Given the description of an element on the screen output the (x, y) to click on. 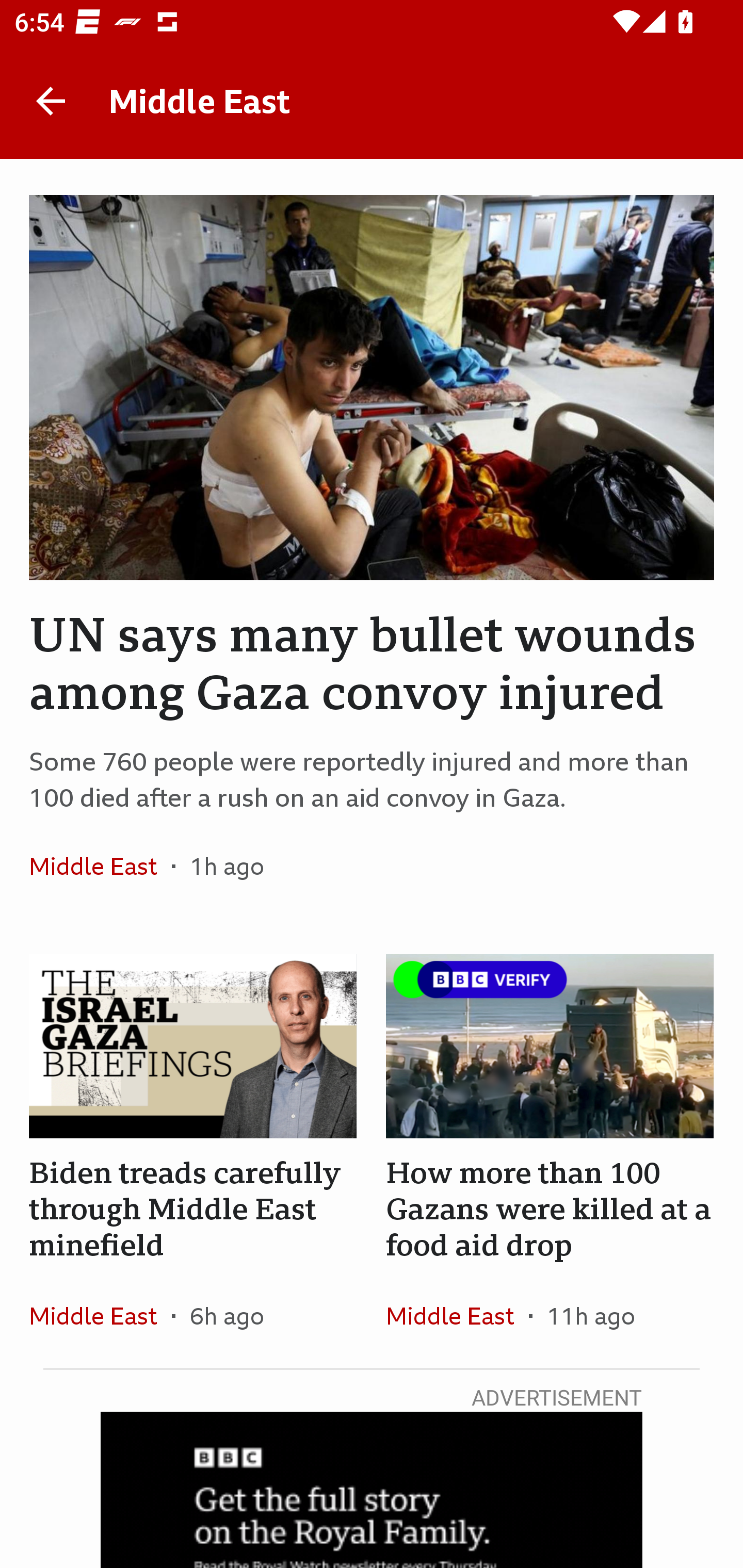
Back (50, 101)
Middle East In the section Middle East (99, 865)
Middle East In the section Middle East (99, 1315)
Middle East In the section Middle East (457, 1315)
